Given the description of an element on the screen output the (x, y) to click on. 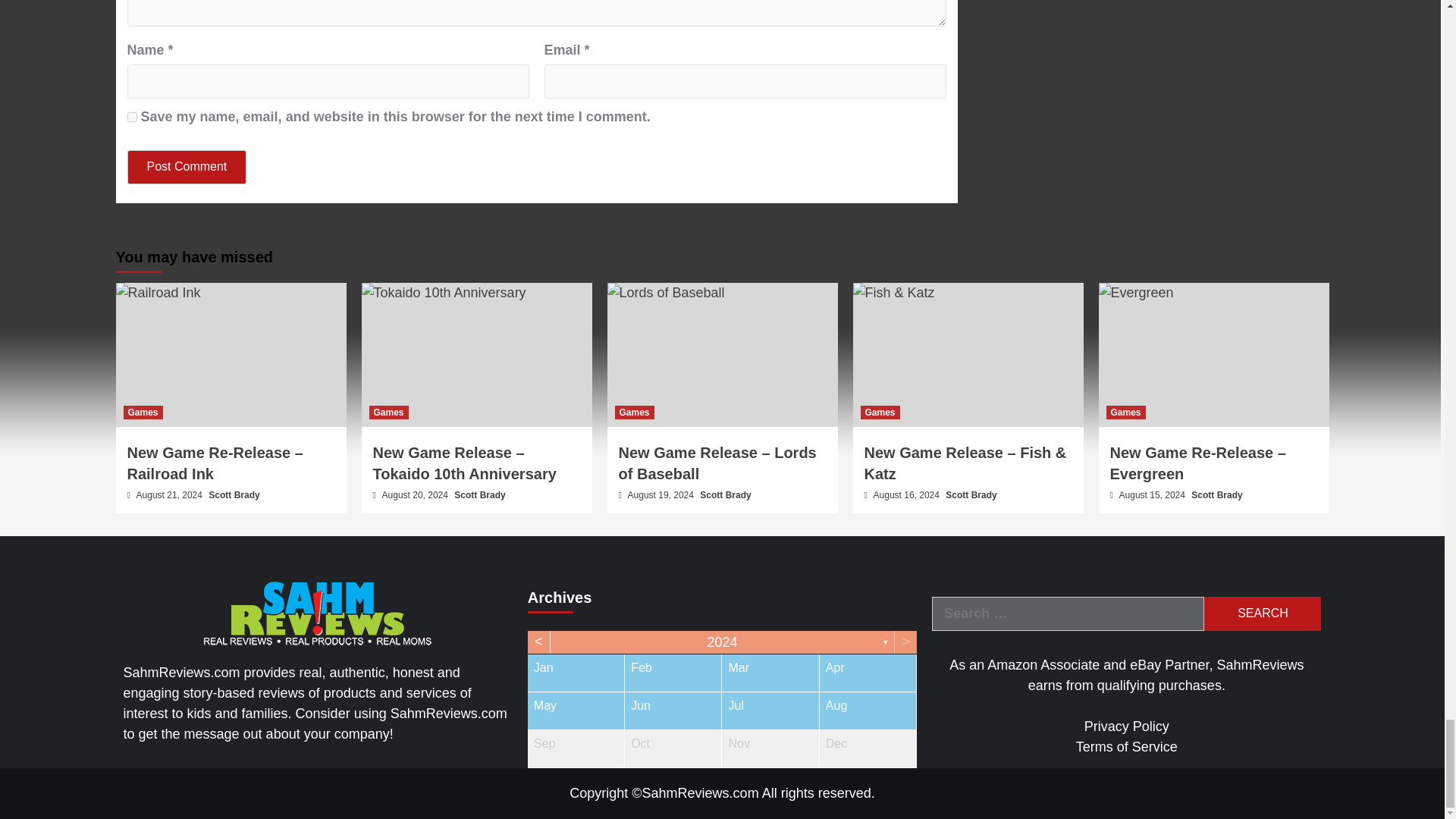
Post Comment (187, 166)
Search (1262, 613)
February, 2024 (672, 672)
March, 2024 (770, 672)
January, 2024 (575, 672)
Search (1262, 613)
yes (132, 117)
